Given the description of an element on the screen output the (x, y) to click on. 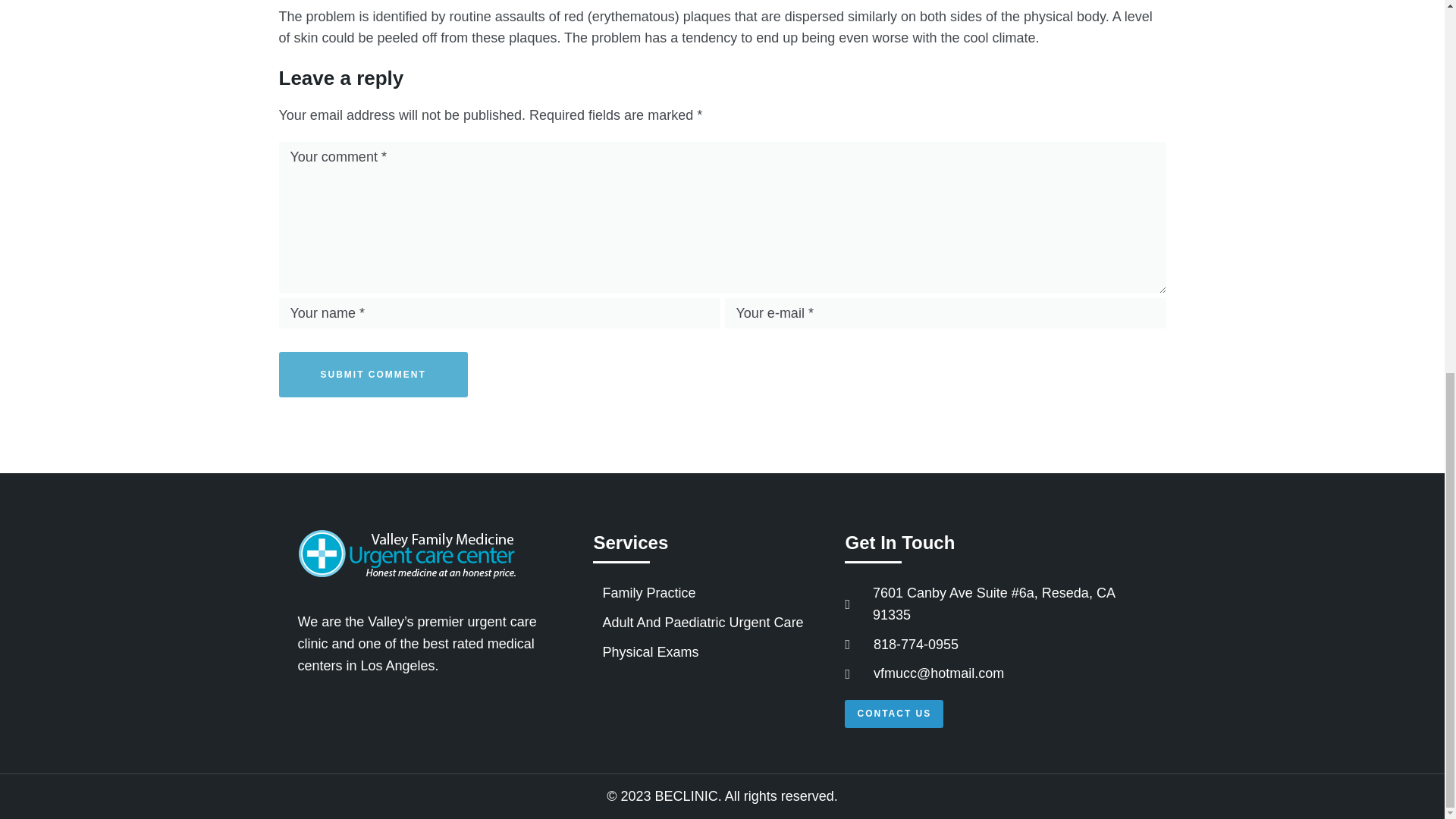
Family Practice (710, 593)
Submit Comment (373, 374)
818-774-0955 (993, 644)
Submit Comment (373, 374)
CONTACT US (893, 714)
Physical Exams (710, 652)
Adult And Paediatric Urgent Care (710, 622)
